Given the description of an element on the screen output the (x, y) to click on. 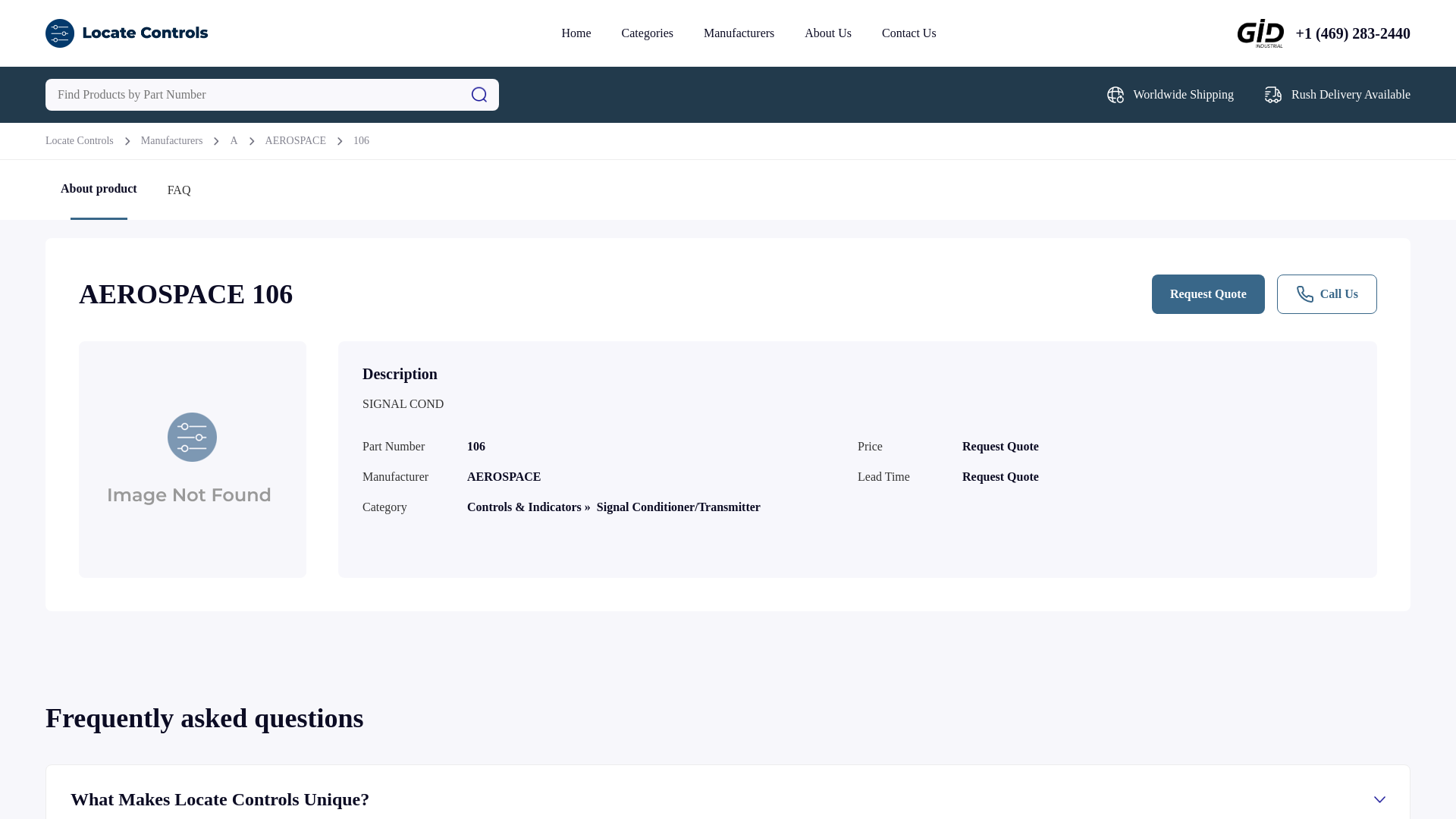
  Call Us (1326, 293)
106 (361, 141)
AEROSPACE (295, 141)
Home (575, 32)
FAQ (179, 193)
Locate Controls (79, 141)
About product (98, 193)
Manufacturers (172, 141)
Request Quote (1208, 293)
Contact Us (909, 32)
Categories (646, 32)
About Us (828, 32)
Manufacturers (738, 32)
